Given the description of an element on the screen output the (x, y) to click on. 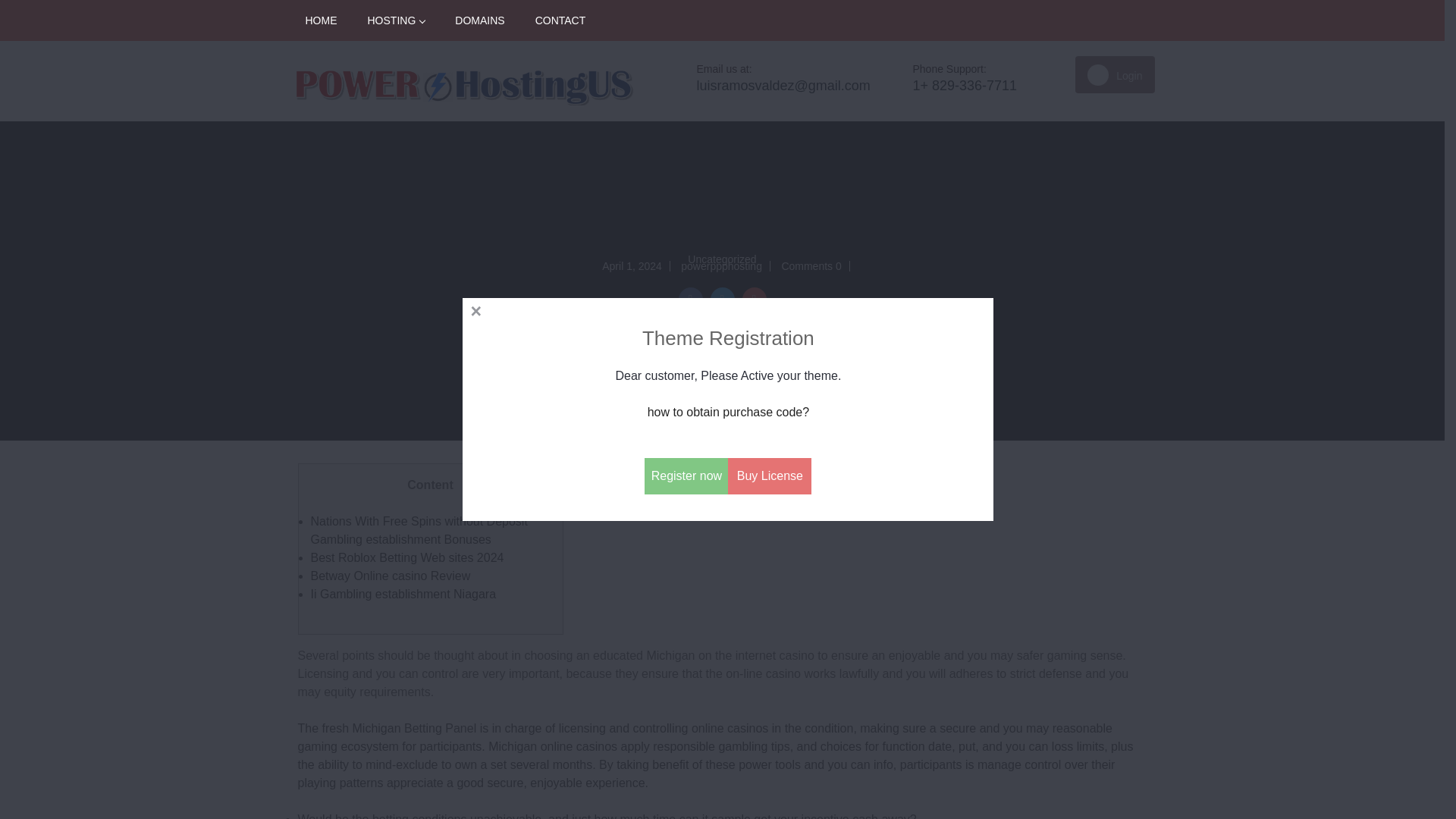
powerppphosting (721, 266)
Login (1114, 74)
HOSTING (395, 20)
Betway Online casino Review (390, 575)
Comments 0 (810, 266)
CONTACT (560, 20)
Ii Gambling establishment Niagara (403, 594)
HOME (320, 20)
Best Roblox Betting Web sites 2024 (407, 557)
